Given the description of an element on the screen output the (x, y) to click on. 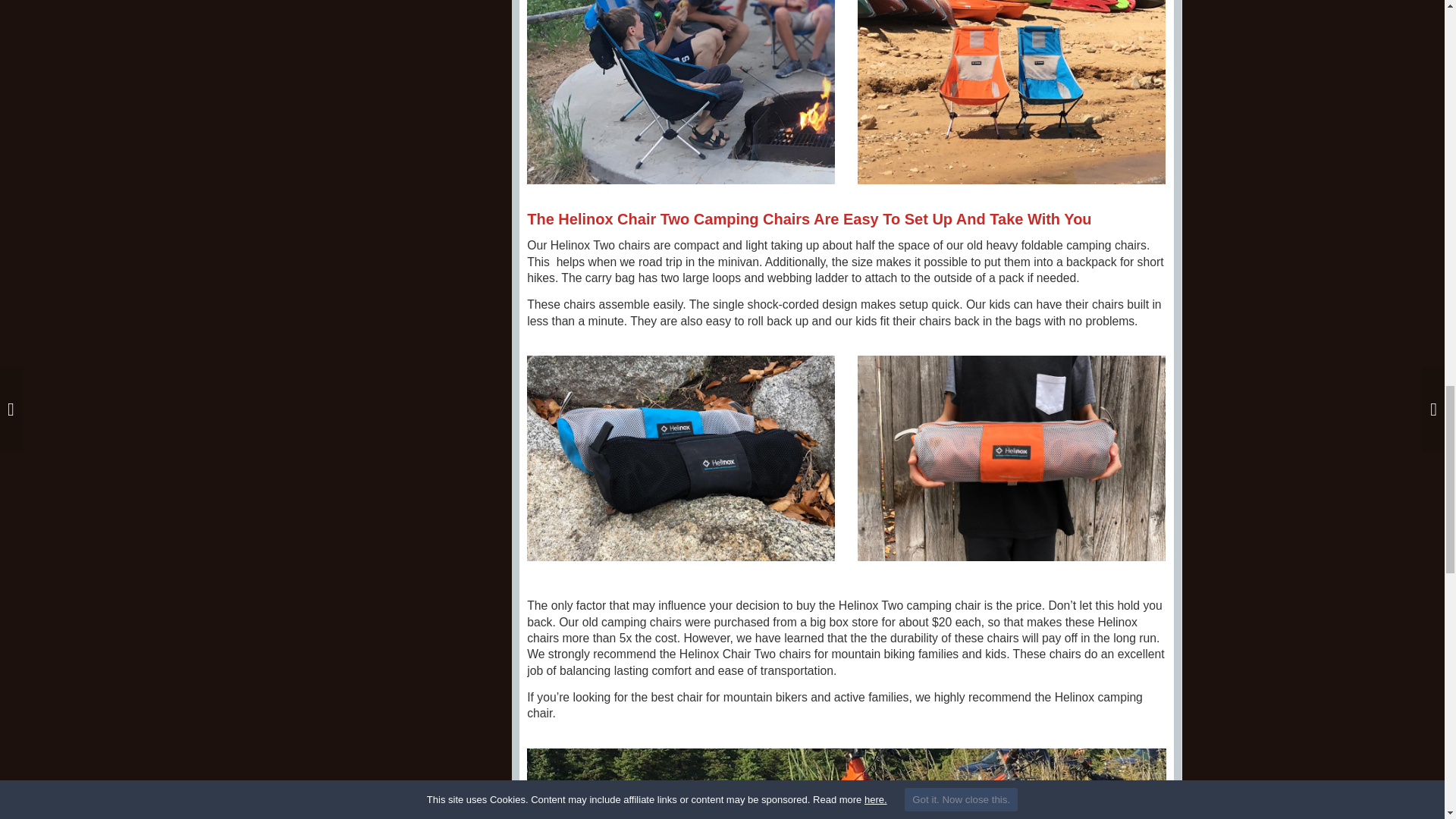
Helinox Chair Two chairs posing on the rocks (680, 458)
The Helinox Chair Two camping chairs are comfortable (680, 92)
The Helinox Chair Two camping chairs are comfy (846, 783)
The Helinox Two Chair is compact and easy to travel with (1011, 458)
Lake day with the Helinox Two camping chairs (1011, 92)
